Given the description of an element on the screen output the (x, y) to click on. 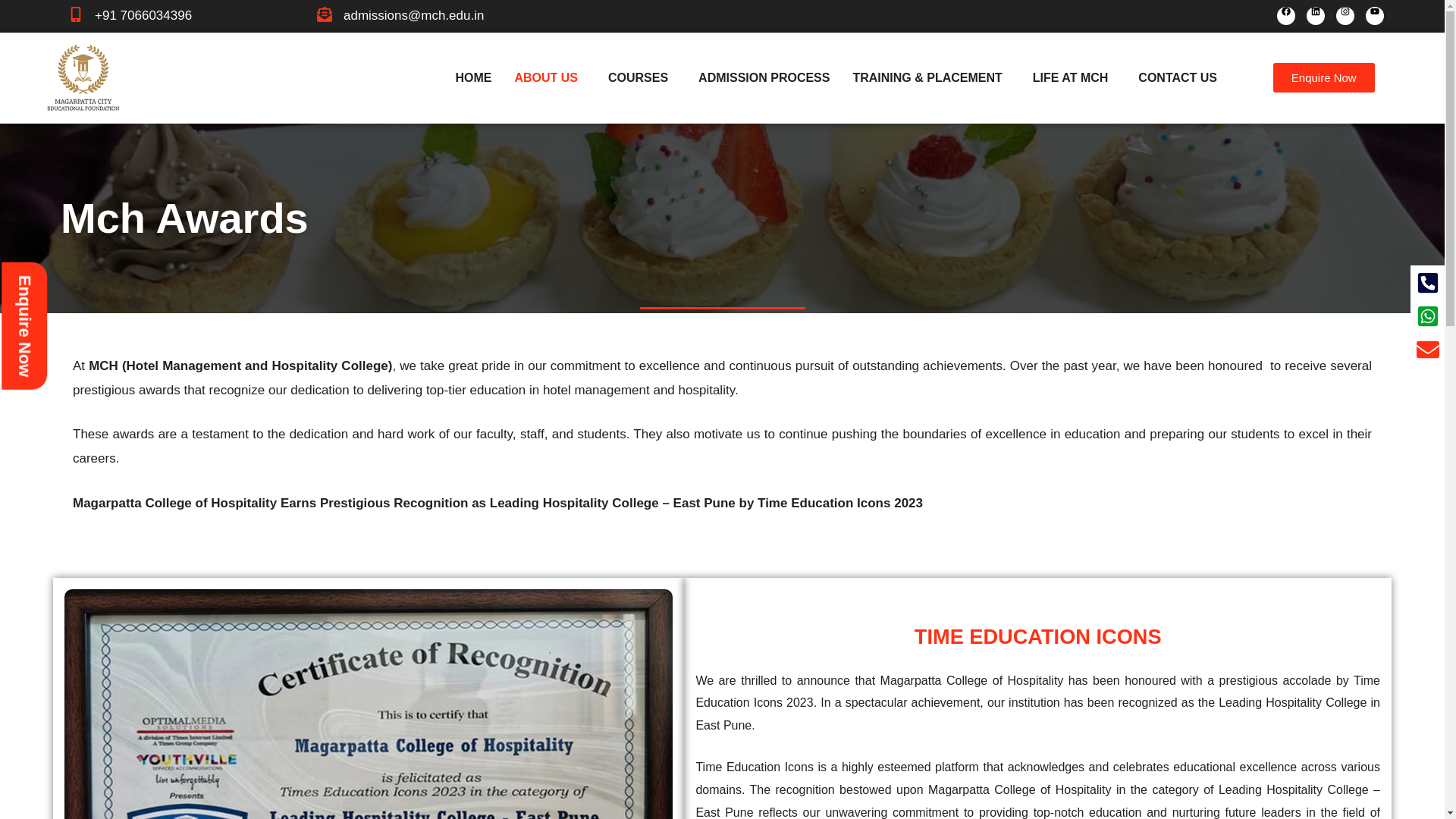
Linkedin (1315, 15)
ABOUT US (549, 77)
HOME (473, 77)
CONTACT US (1177, 77)
ADMISSION PROCESS (764, 77)
Youtube (1374, 15)
Facebook (1285, 15)
Enquire Now (1323, 77)
LIFE AT MCH (1074, 77)
COURSES (641, 77)
